Given the description of an element on the screen output the (x, y) to click on. 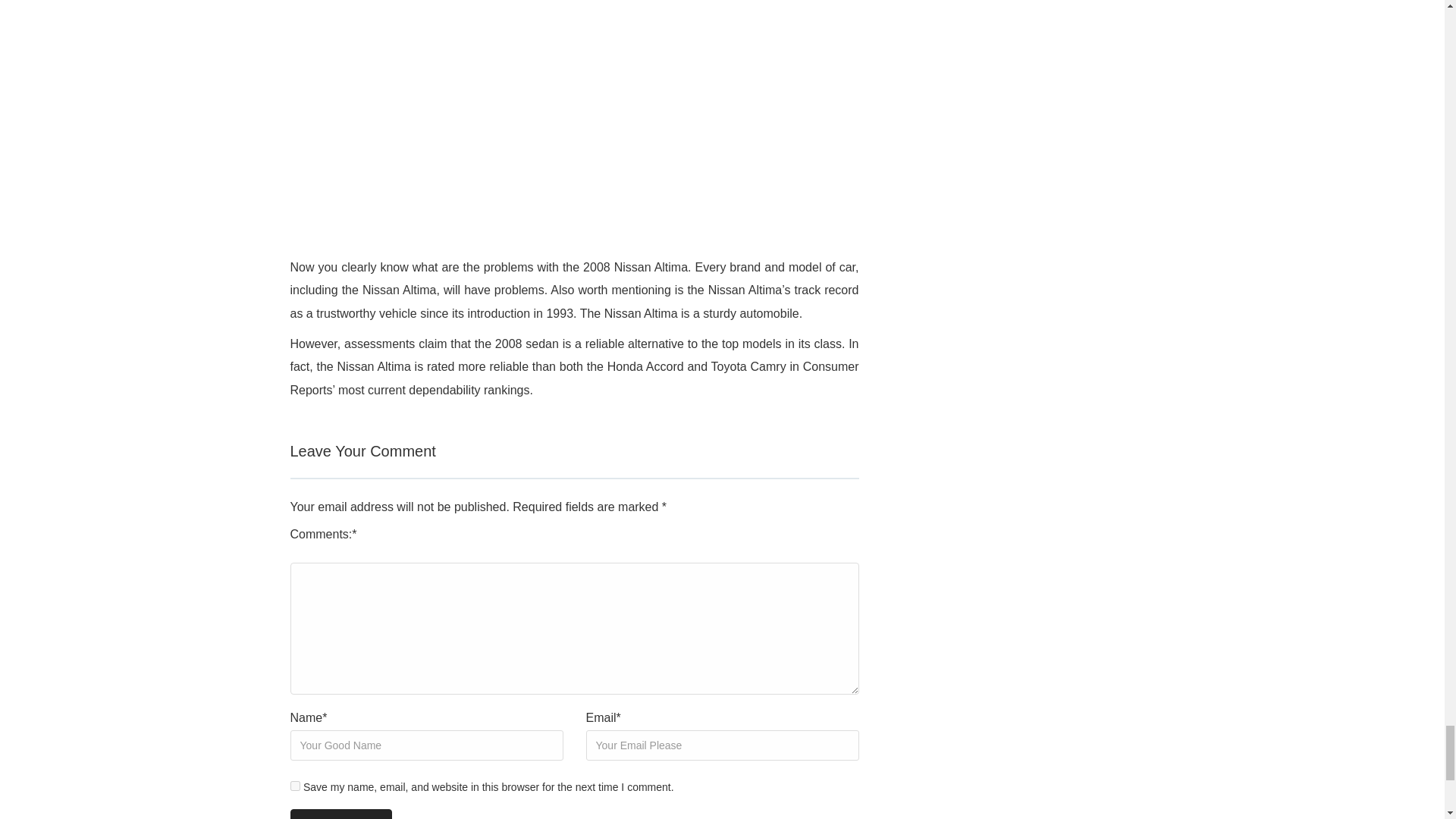
Post Comment (340, 814)
yes (294, 786)
